Given the description of an element on the screen output the (x, y) to click on. 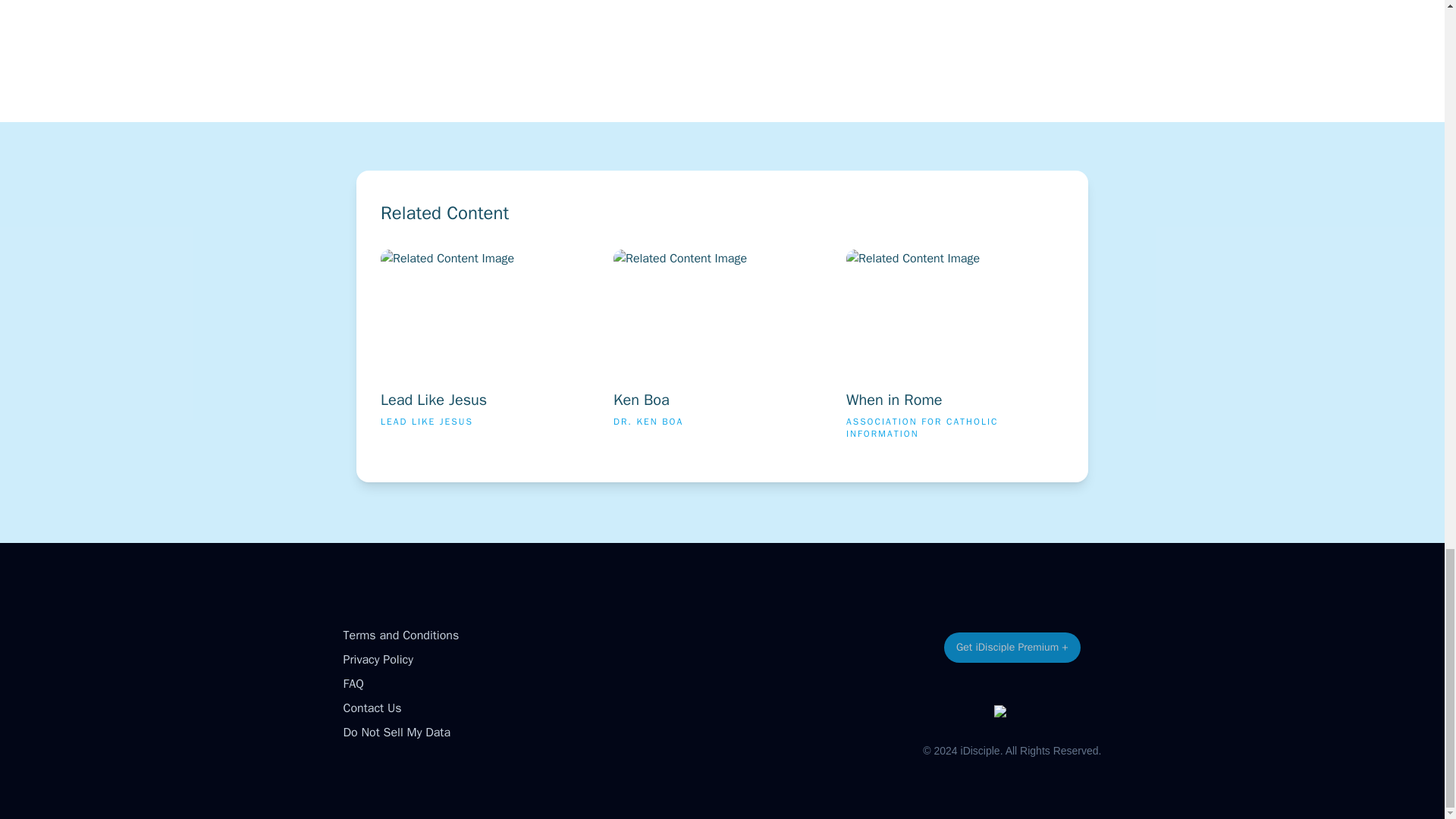
Contact Us (721, 350)
Terms and Conditions (954, 350)
FAQ (371, 708)
Privacy Policy (489, 350)
Do Not Sell My Data (400, 635)
